Given the description of an element on the screen output the (x, y) to click on. 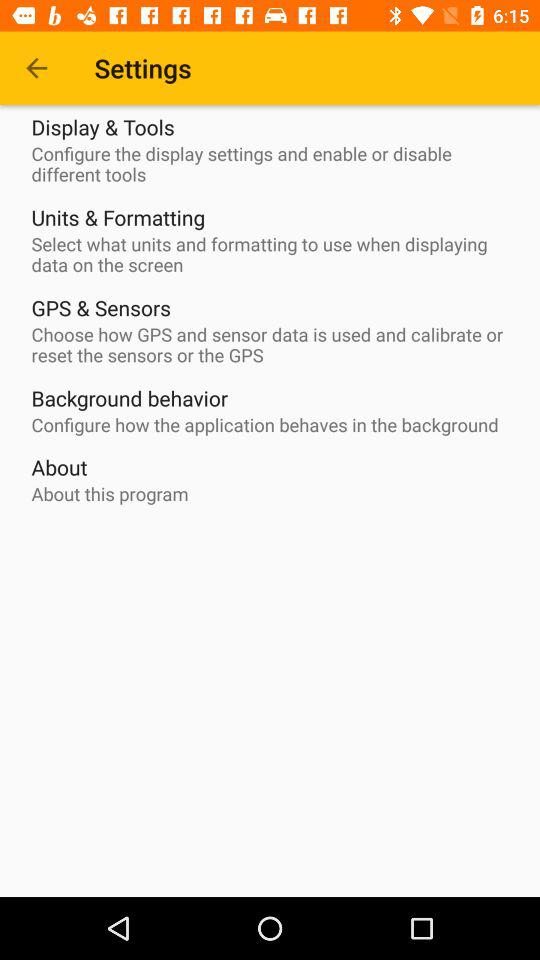
swipe until choose how gps (275, 345)
